Given the description of an element on the screen output the (x, y) to click on. 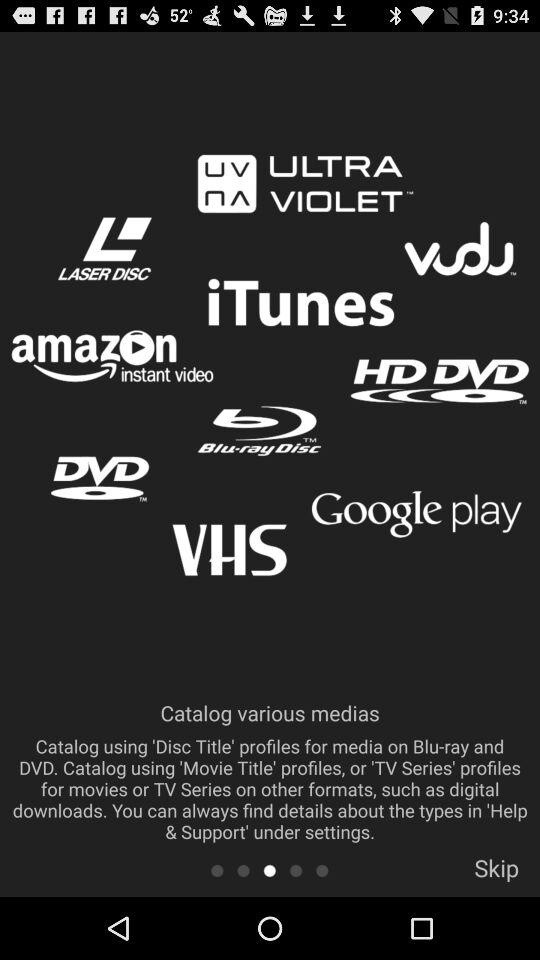
launch the icon below catalog various medias (216, 870)
